Given the description of an element on the screen output the (x, y) to click on. 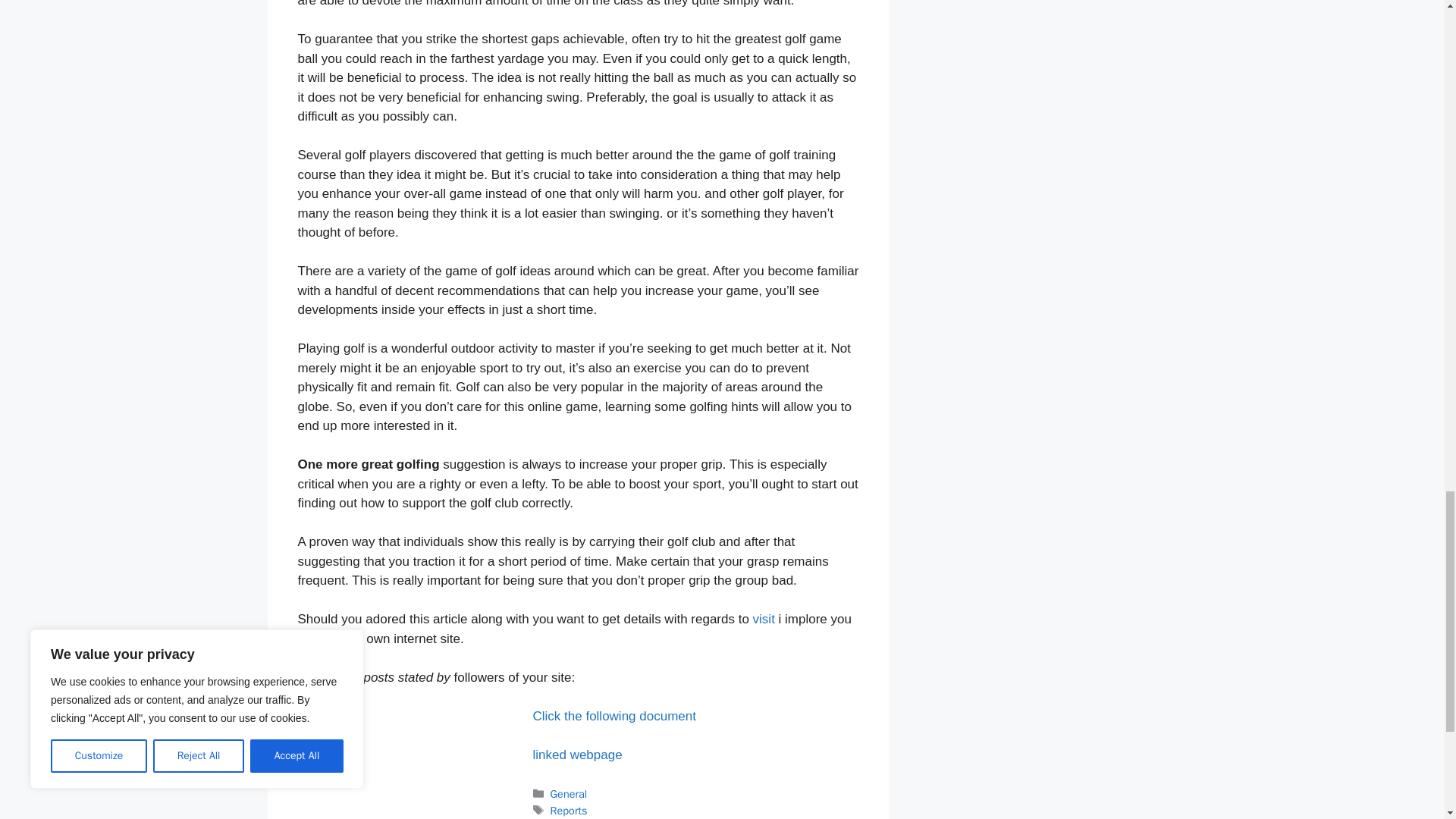
Reports (569, 810)
Click the following document (613, 716)
General (569, 793)
visit (763, 618)
linked webpage (576, 754)
